Given the description of an element on the screen output the (x, y) to click on. 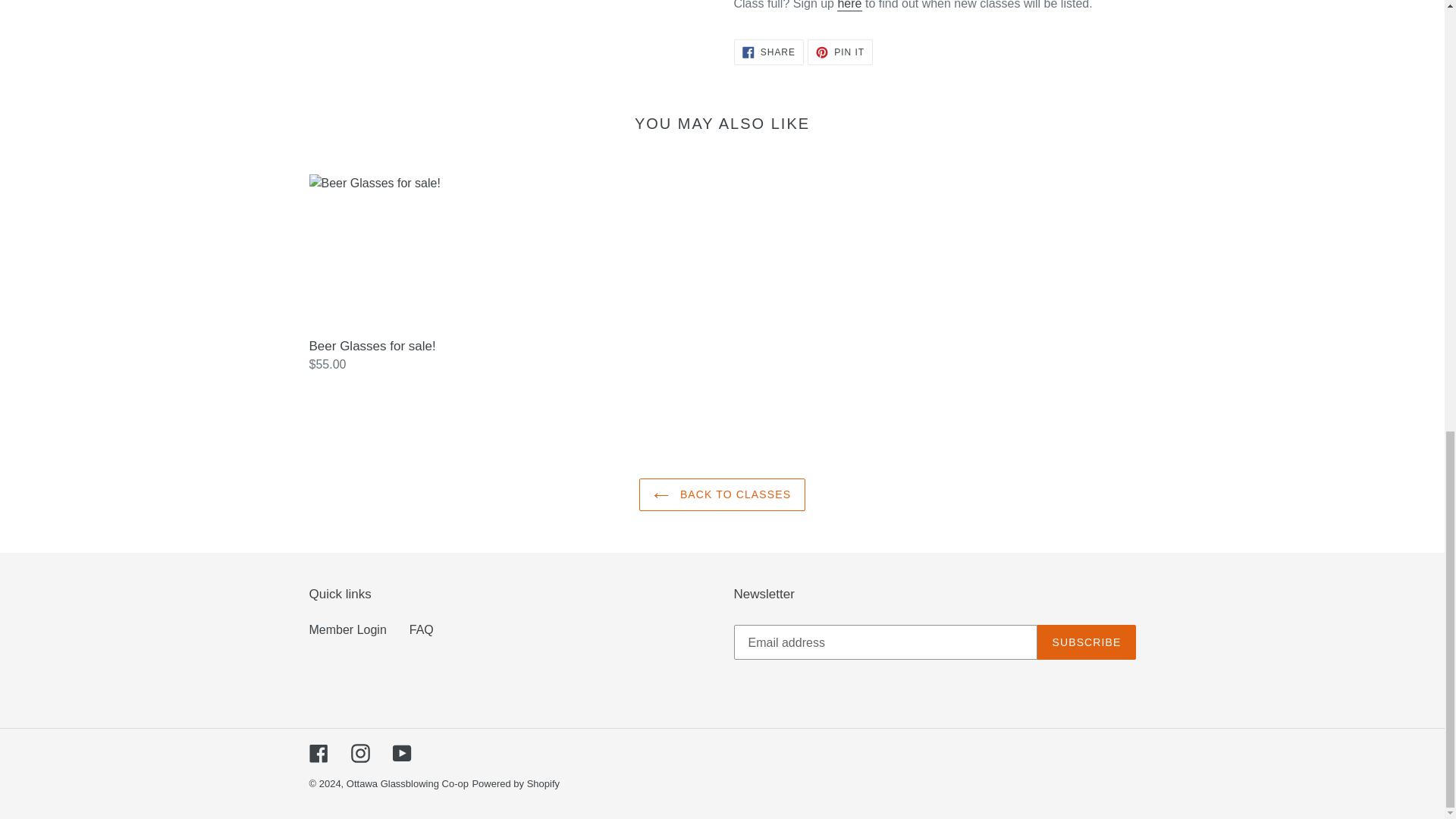
Notification list (849, 5)
